Given the description of an element on the screen output the (x, y) to click on. 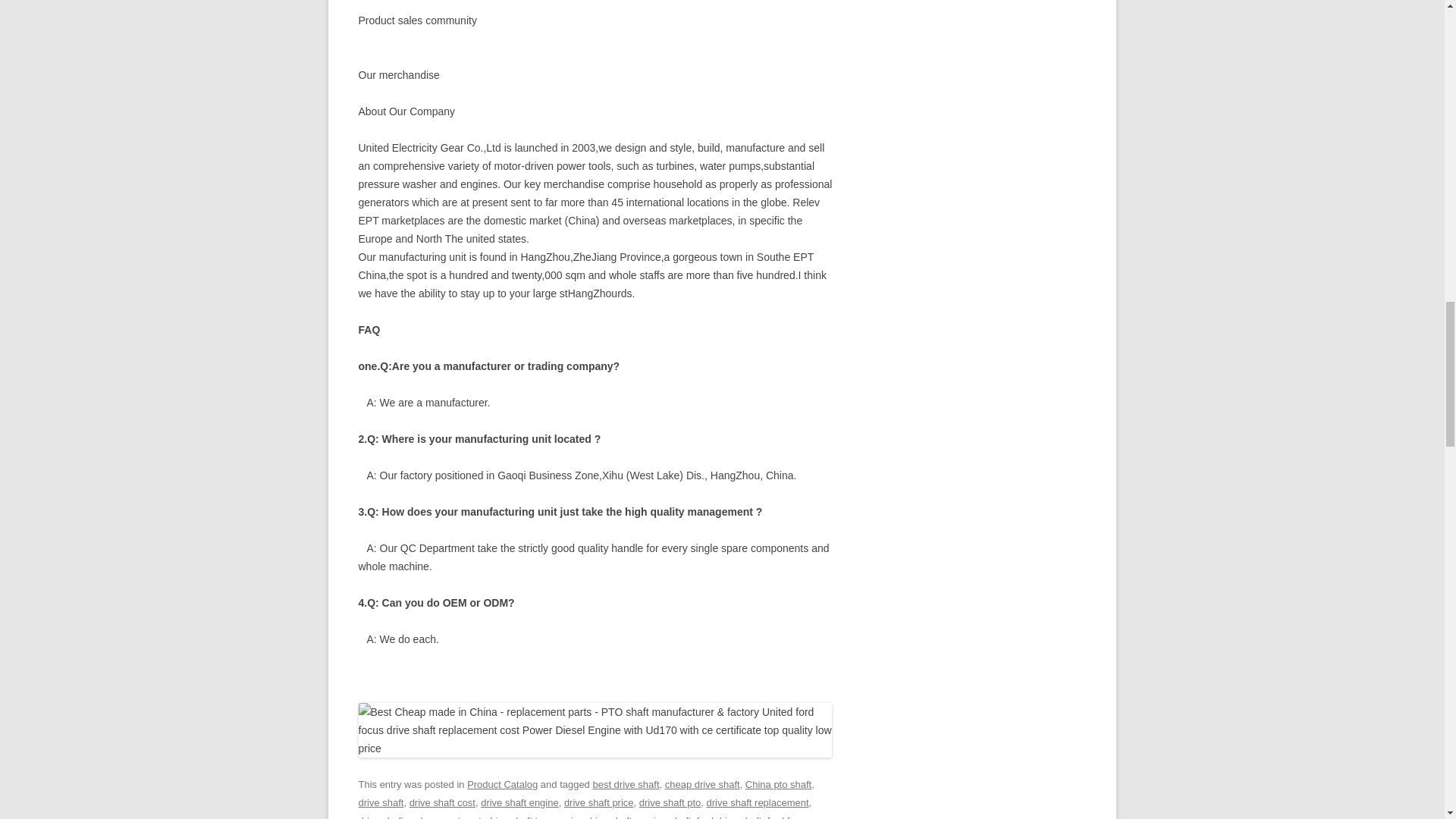
drive shaft engine (519, 802)
drive shaft replacement (757, 802)
drive shaft (380, 802)
drive shaft cost (442, 802)
China pto shaft (777, 784)
drive shaft pto (670, 802)
cheap drive shaft (702, 784)
best drive shaft (625, 784)
Product Catalog (502, 784)
drive shaft price (598, 802)
engine drive shaft (592, 816)
drive shaft top (517, 816)
engine shaft (664, 816)
ford drive shaft (729, 816)
